Given the description of an element on the screen output the (x, y) to click on. 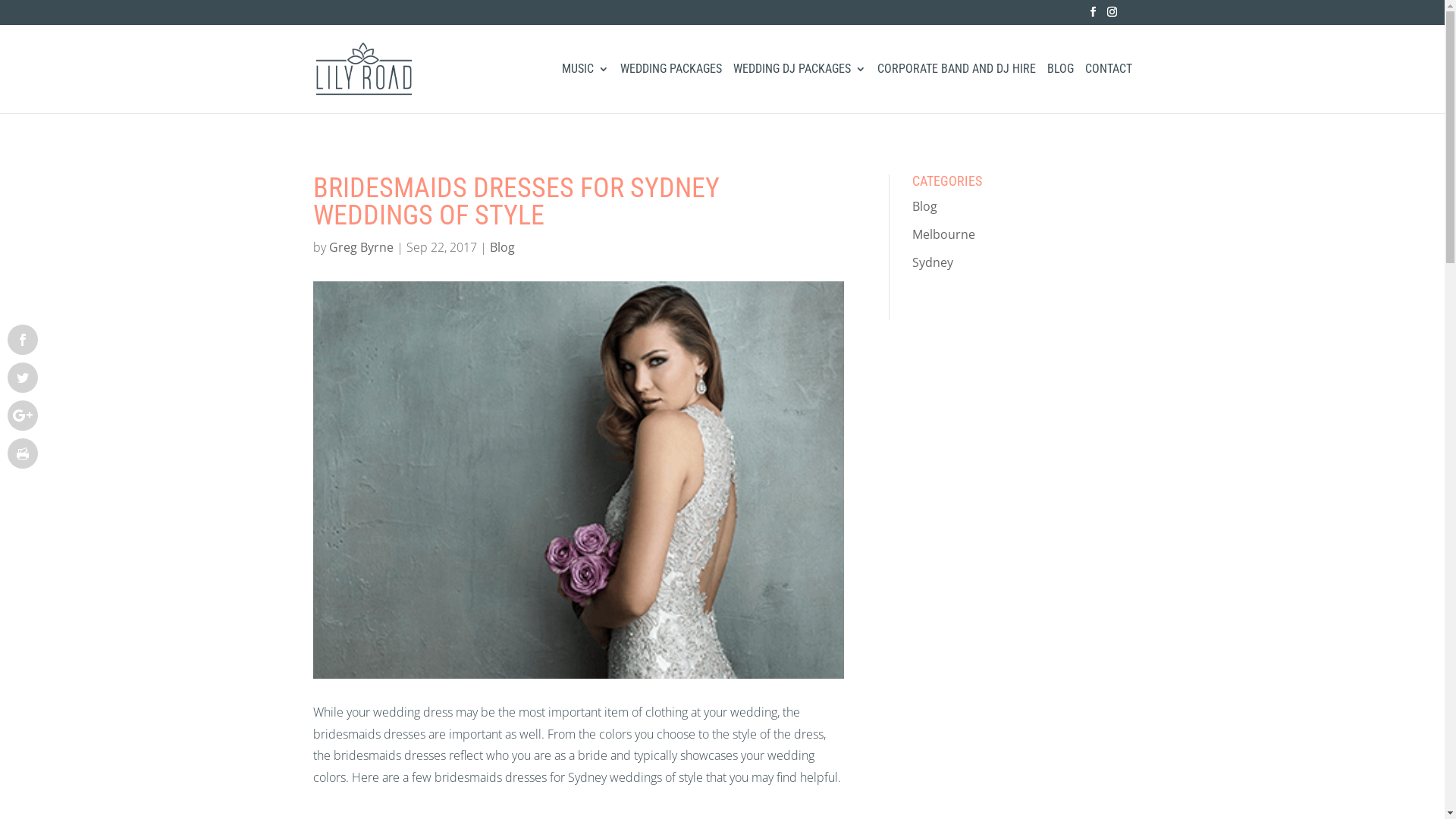
CONTACT Element type: text (1107, 87)
WEDDING DJ PACKAGES Element type: text (798, 87)
Bridesmaids Dresses for Sydney Weddings of Style Element type: hover (577, 479)
MUSIC Element type: text (584, 87)
Sydney Element type: text (932, 262)
Blog Element type: text (501, 246)
WEDDING PACKAGES Element type: text (670, 87)
Melbourne Element type: text (943, 233)
Blog Element type: text (924, 205)
CORPORATE BAND AND DJ HIRE Element type: text (955, 87)
BLOG Element type: text (1059, 87)
Greg Byrne Element type: text (361, 246)
